Given the description of an element on the screen output the (x, y) to click on. 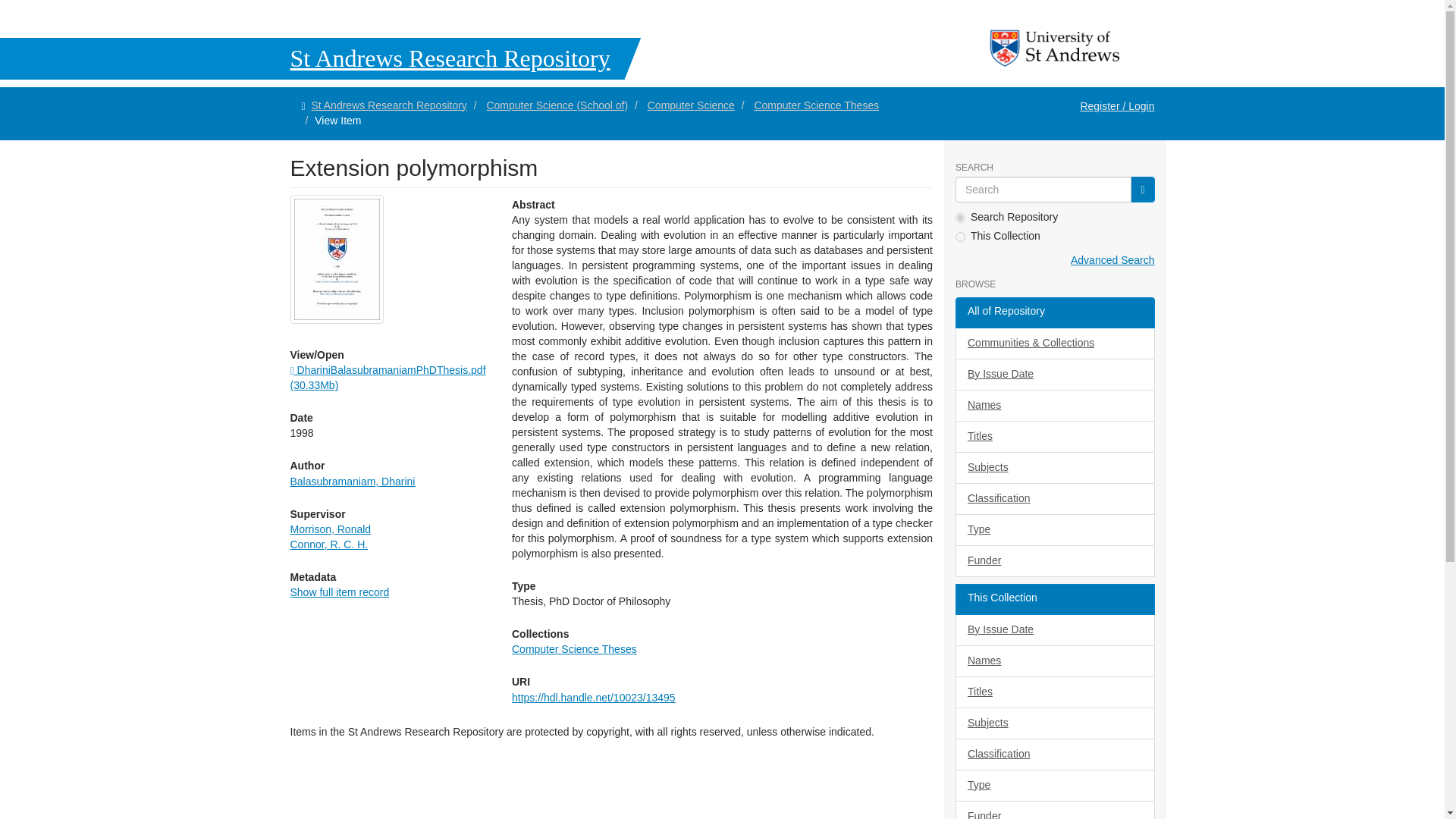
By Issue Date (1054, 374)
By Issue Date (1054, 630)
St Andrews Research Repository (388, 105)
Show full item record (338, 592)
Funder (1054, 561)
Type (1054, 530)
Computer Science (691, 105)
Subjects (1054, 468)
Advanced Search (1112, 259)
Connor, R. C. H. (328, 544)
Classification (1054, 499)
Morrison, Ronald (330, 529)
Computer Science Theses (816, 105)
Balasubramaniam, Dharini (351, 481)
Computer Science Theses (574, 648)
